Given the description of an element on the screen output the (x, y) to click on. 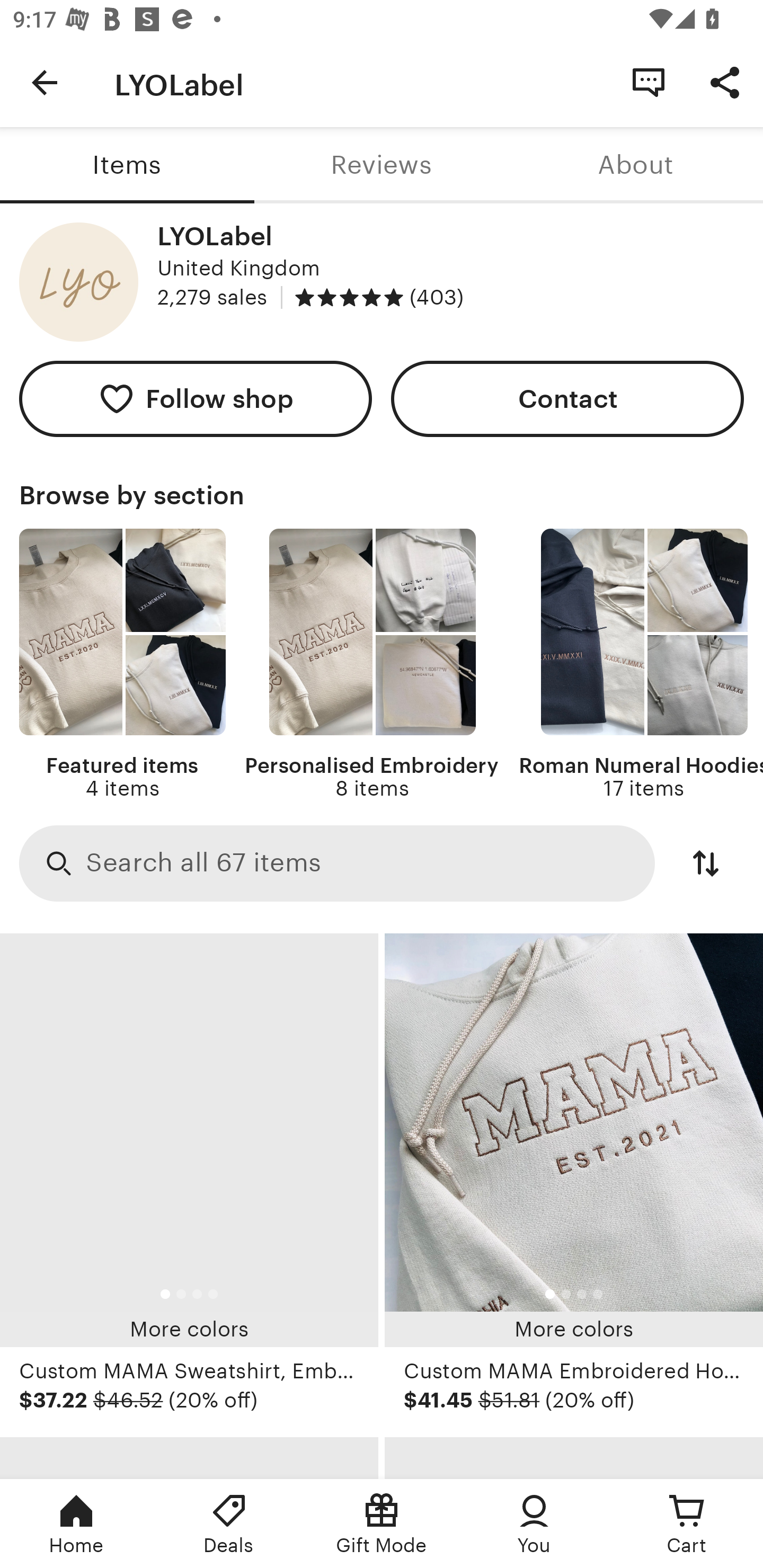
Navigate up (44, 82)
Contact Shop (648, 81)
Share (724, 81)
Reviews (381, 165)
About (635, 165)
Follow shop (195, 398)
Contact (566, 398)
Featured items 4 items (122, 663)
Personalised Embroidery 8 items (371, 663)
Roman Numeral Hoodies 17 items (640, 663)
Search Search all 67 items (336, 862)
Deals (228, 1523)
Gift Mode (381, 1523)
You (533, 1523)
Cart (686, 1523)
